Given the description of an element on the screen output the (x, y) to click on. 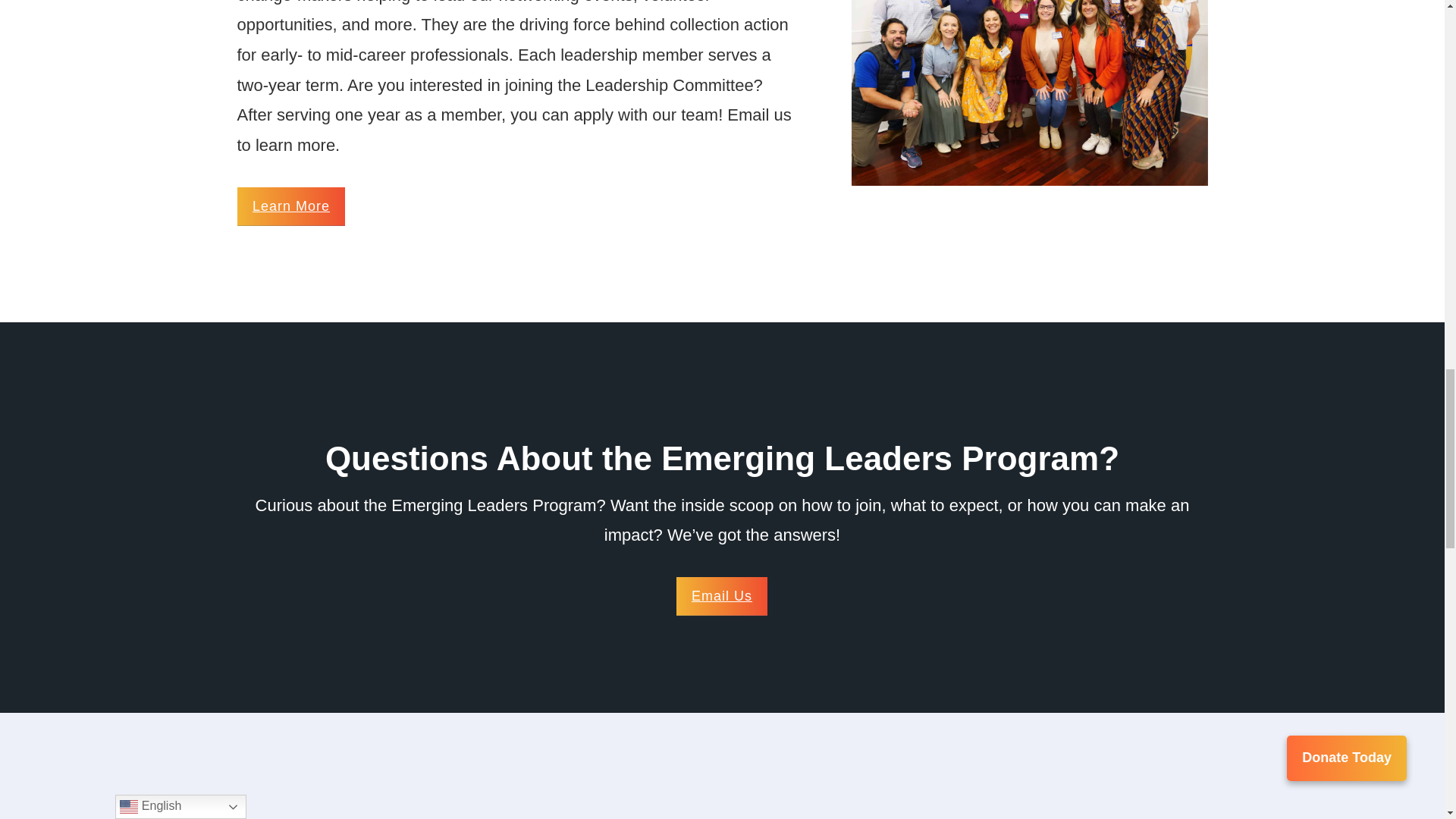
EL Leadership '23 (1029, 92)
